Given the description of an element on the screen output the (x, y) to click on. 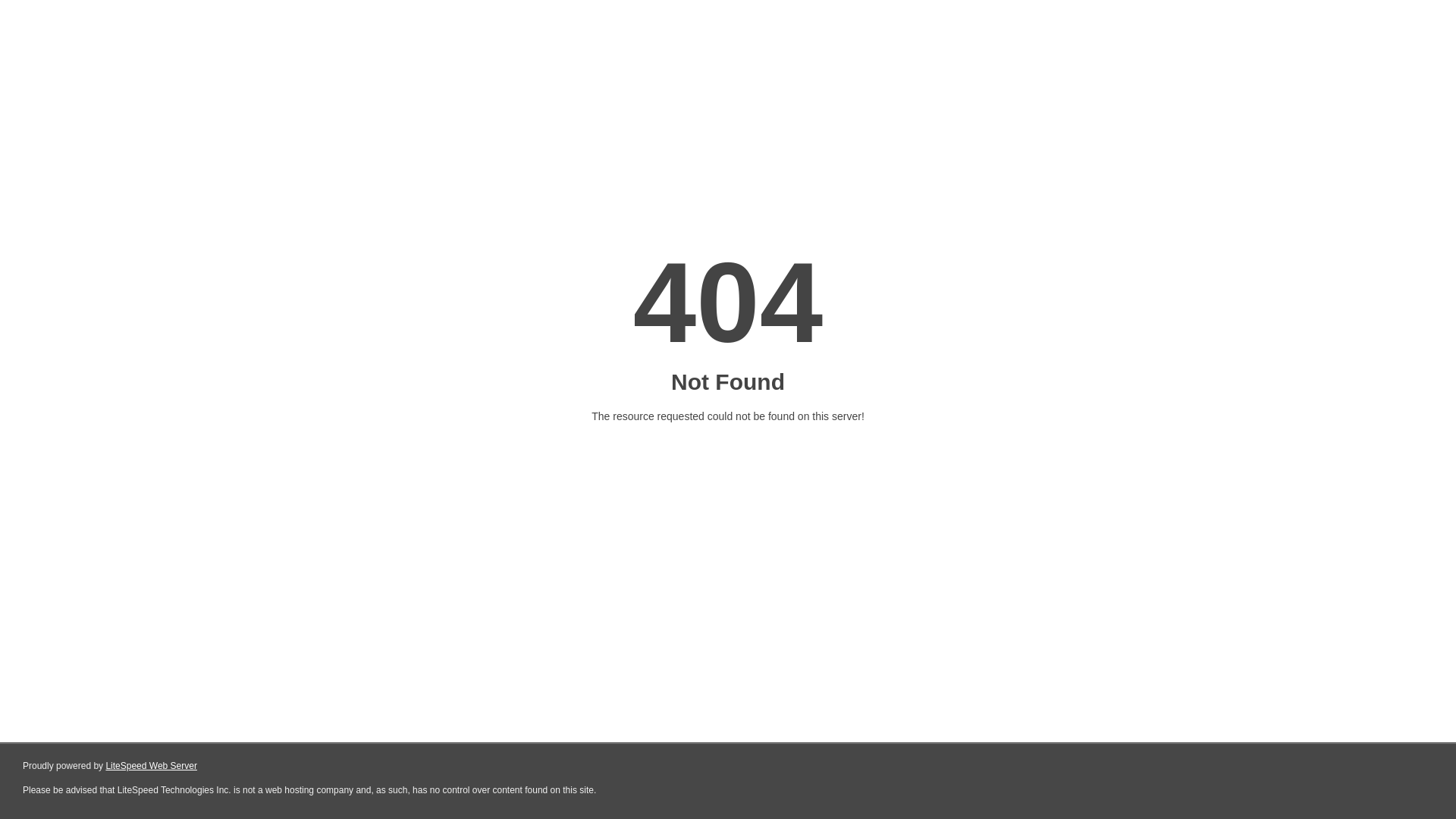
LiteSpeed Web Server Element type: text (151, 765)
